Given the description of an element on the screen output the (x, y) to click on. 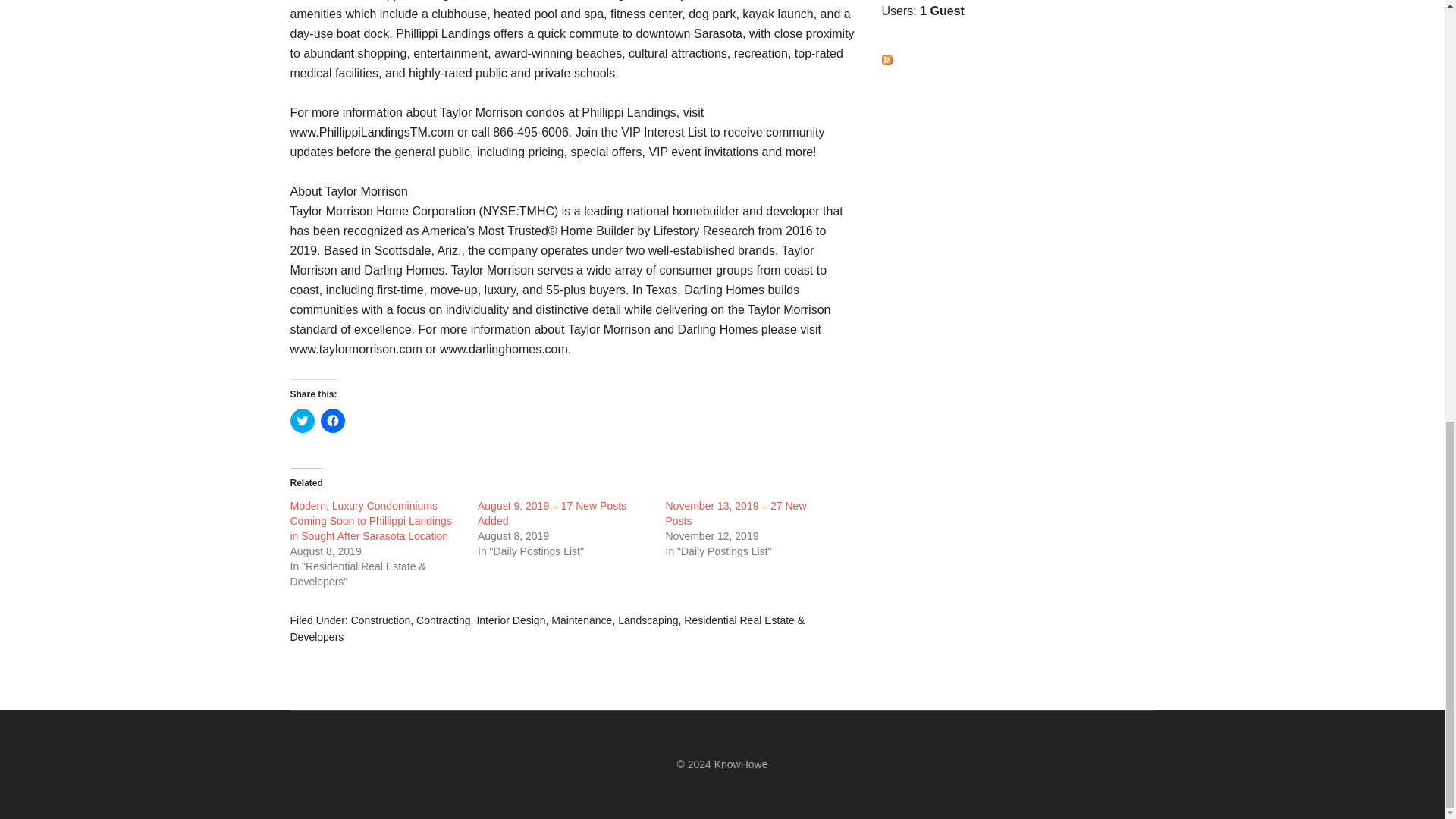
Click to share on Twitter (301, 420)
Subscribe to posts (885, 60)
Click to share on Facebook (331, 420)
KnowHowe (741, 764)
